Given the description of an element on the screen output the (x, y) to click on. 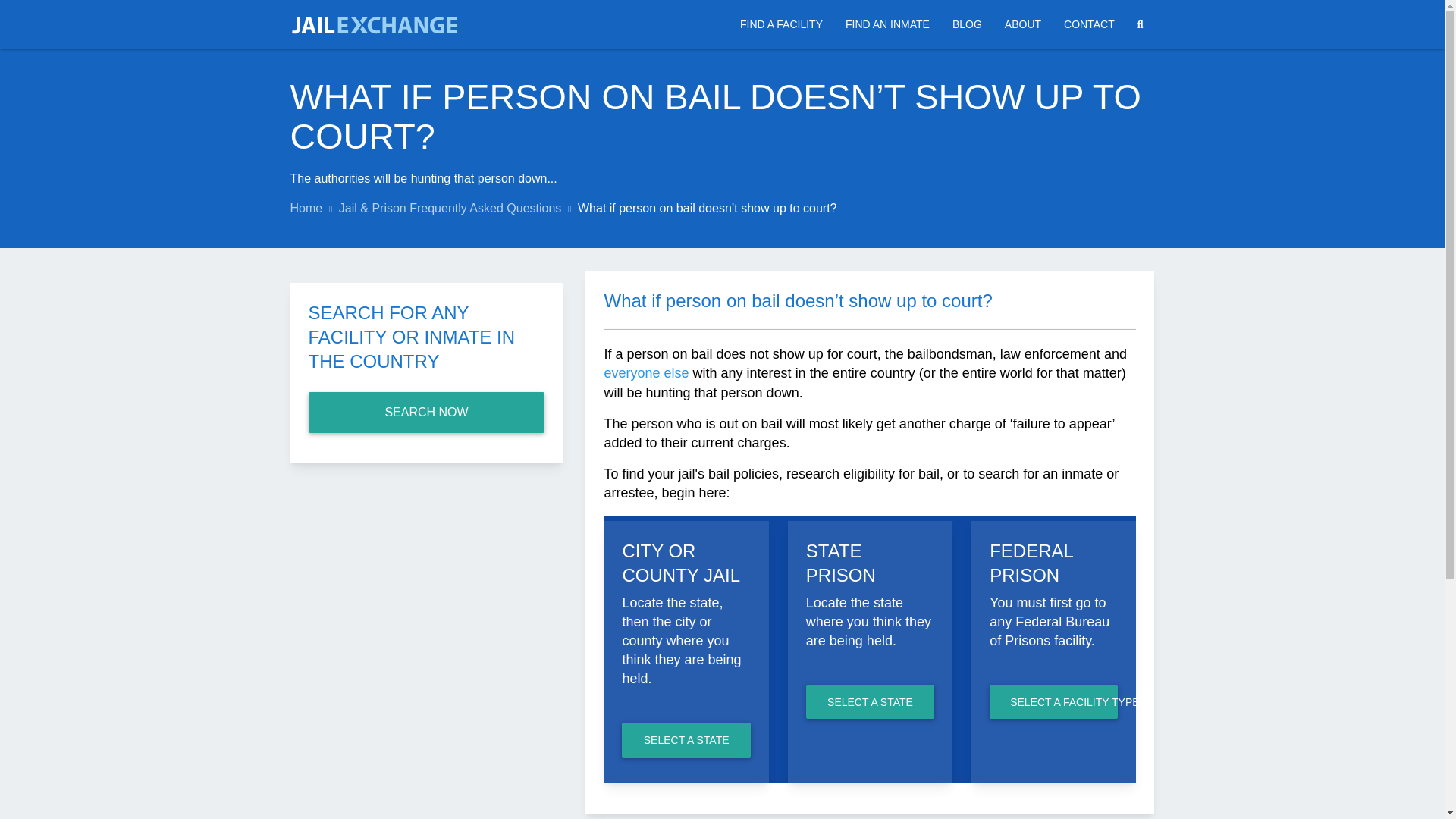
ABOUT (1022, 24)
CONTACT (1088, 24)
BLOG (966, 24)
SEARCH NOW (425, 412)
FIND A FACILITY (781, 24)
FIND AN INMATE (887, 24)
Home (305, 207)
